Given the description of an element on the screen output the (x, y) to click on. 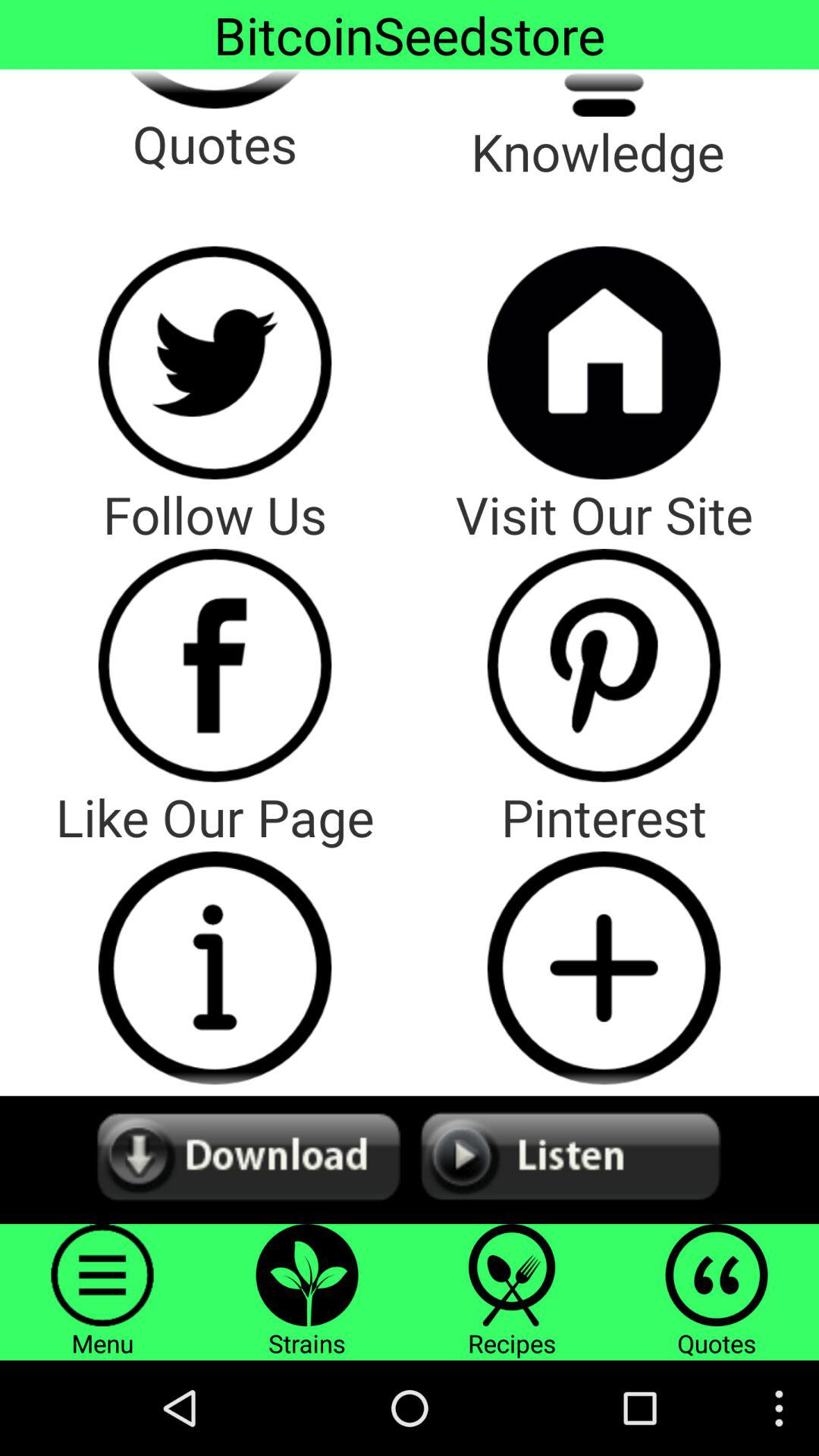
go to quotes (214, 88)
